Given the description of an element on the screen output the (x, y) to click on. 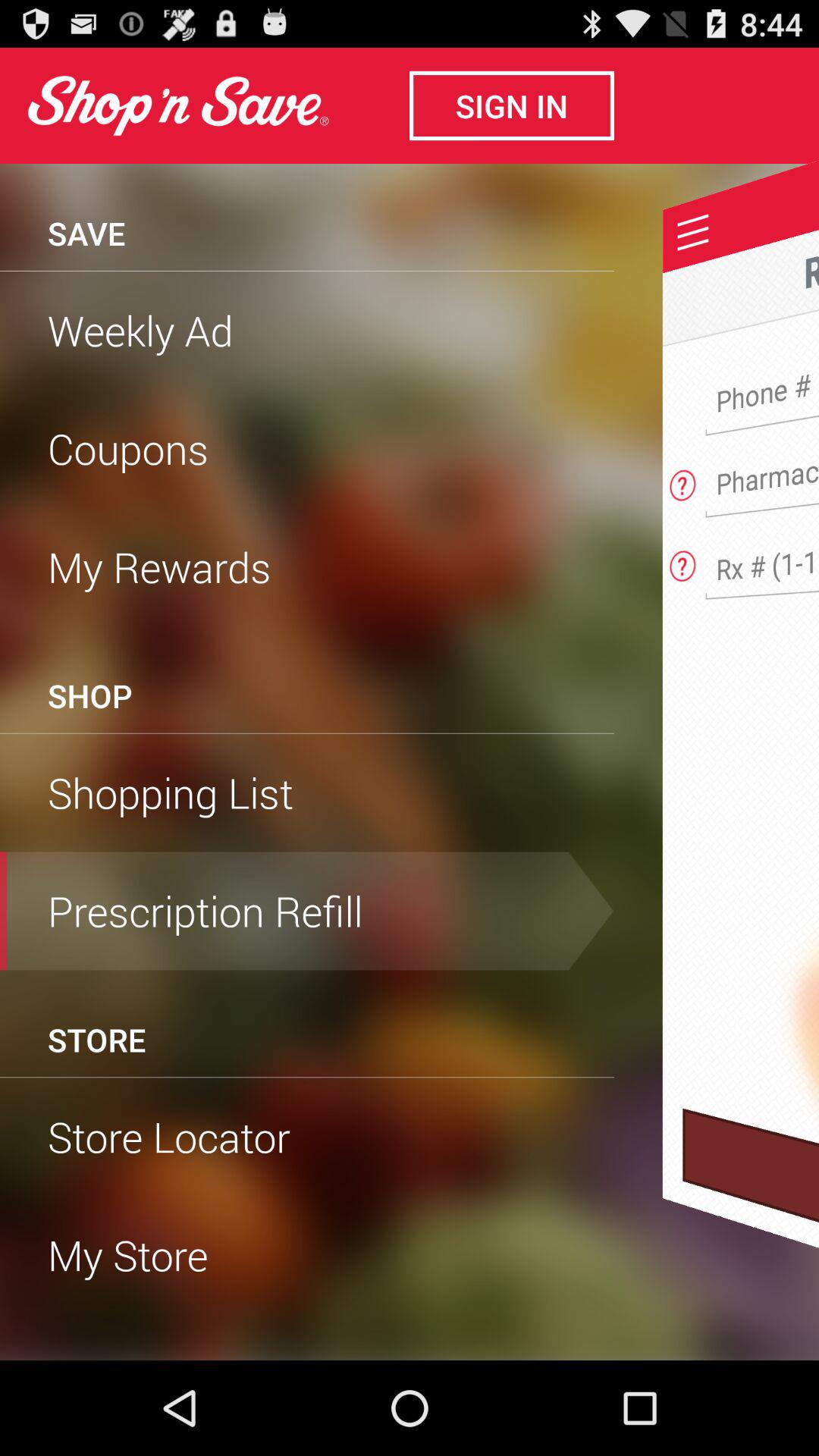
turn on the item below the shop item (307, 733)
